Given the description of an element on the screen output the (x, y) to click on. 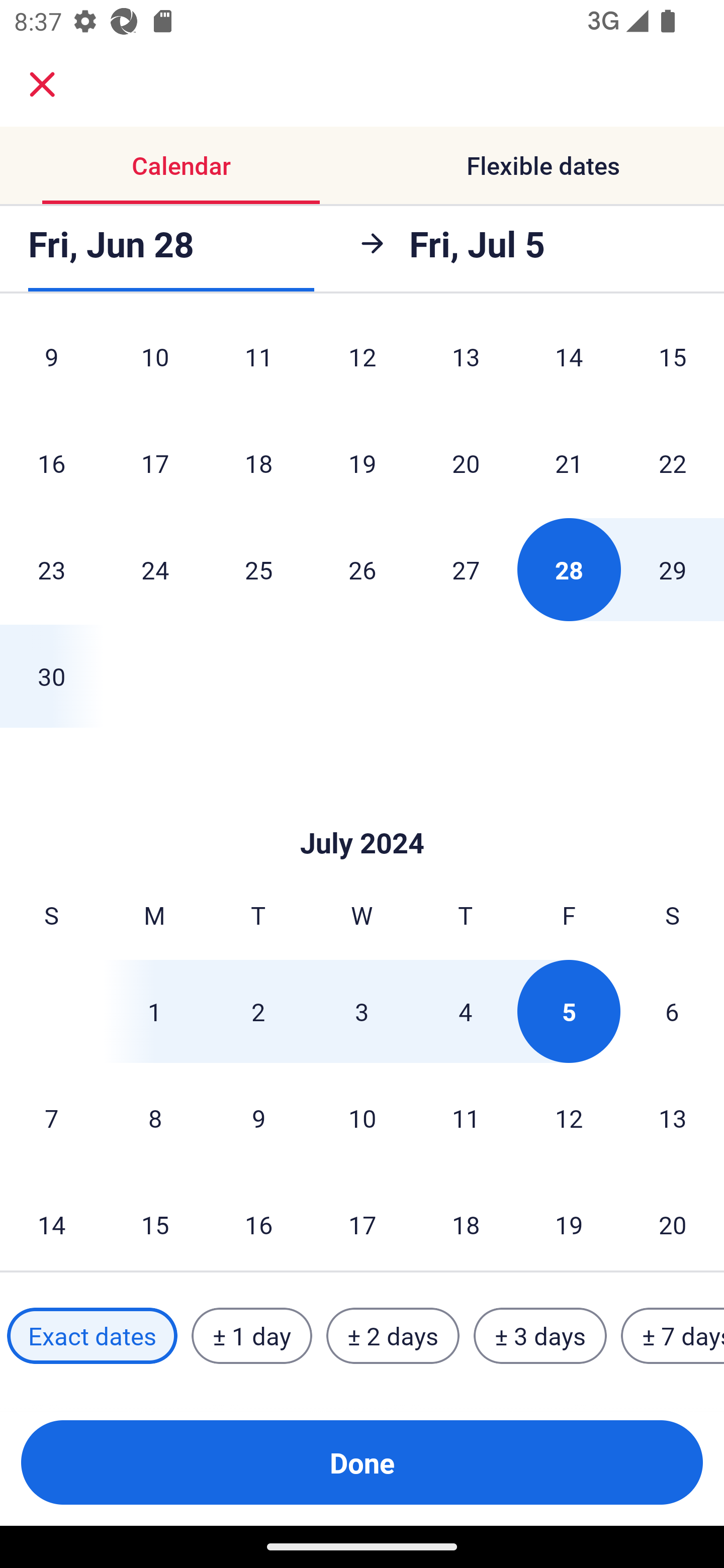
close. (42, 84)
Flexible dates (542, 164)
9 Sunday, June 9, 2024 (51, 364)
10 Monday, June 10, 2024 (155, 364)
11 Tuesday, June 11, 2024 (258, 364)
12 Wednesday, June 12, 2024 (362, 364)
13 Thursday, June 13, 2024 (465, 364)
14 Friday, June 14, 2024 (569, 364)
15 Saturday, June 15, 2024 (672, 364)
16 Sunday, June 16, 2024 (51, 462)
17 Monday, June 17, 2024 (155, 462)
18 Tuesday, June 18, 2024 (258, 462)
19 Wednesday, June 19, 2024 (362, 462)
20 Thursday, June 20, 2024 (465, 462)
21 Friday, June 21, 2024 (569, 462)
22 Saturday, June 22, 2024 (672, 462)
23 Sunday, June 23, 2024 (51, 568)
24 Monday, June 24, 2024 (155, 568)
25 Tuesday, June 25, 2024 (258, 568)
26 Wednesday, June 26, 2024 (362, 568)
27 Thursday, June 27, 2024 (465, 568)
Skip to Done (362, 813)
6 Saturday, July 6, 2024 (672, 1011)
7 Sunday, July 7, 2024 (51, 1117)
8 Monday, July 8, 2024 (155, 1117)
9 Tuesday, July 9, 2024 (258, 1117)
10 Wednesday, July 10, 2024 (362, 1117)
11 Thursday, July 11, 2024 (465, 1117)
12 Friday, July 12, 2024 (569, 1117)
13 Saturday, July 13, 2024 (672, 1117)
14 Sunday, July 14, 2024 (51, 1221)
15 Monday, July 15, 2024 (155, 1221)
16 Tuesday, July 16, 2024 (258, 1221)
17 Wednesday, July 17, 2024 (362, 1221)
18 Thursday, July 18, 2024 (465, 1221)
19 Friday, July 19, 2024 (569, 1221)
20 Saturday, July 20, 2024 (672, 1221)
Exact dates (92, 1335)
± 1 day (251, 1335)
± 2 days (392, 1335)
± 3 days (539, 1335)
± 7 days (672, 1335)
Done (361, 1462)
